Given the description of an element on the screen output the (x, y) to click on. 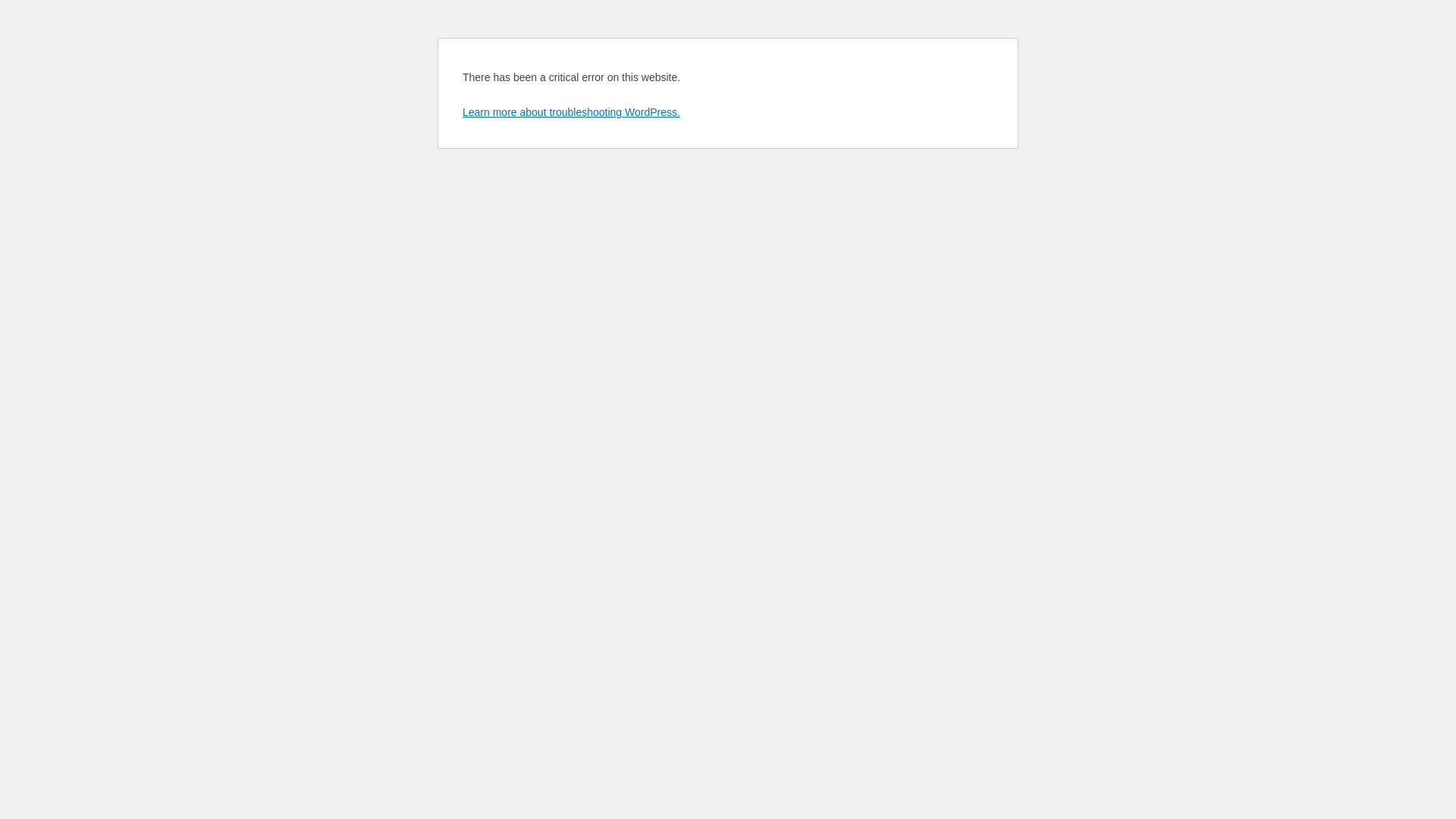
Learn more about troubleshooting WordPress. Element type: text (571, 112)
